Given the description of an element on the screen output the (x, y) to click on. 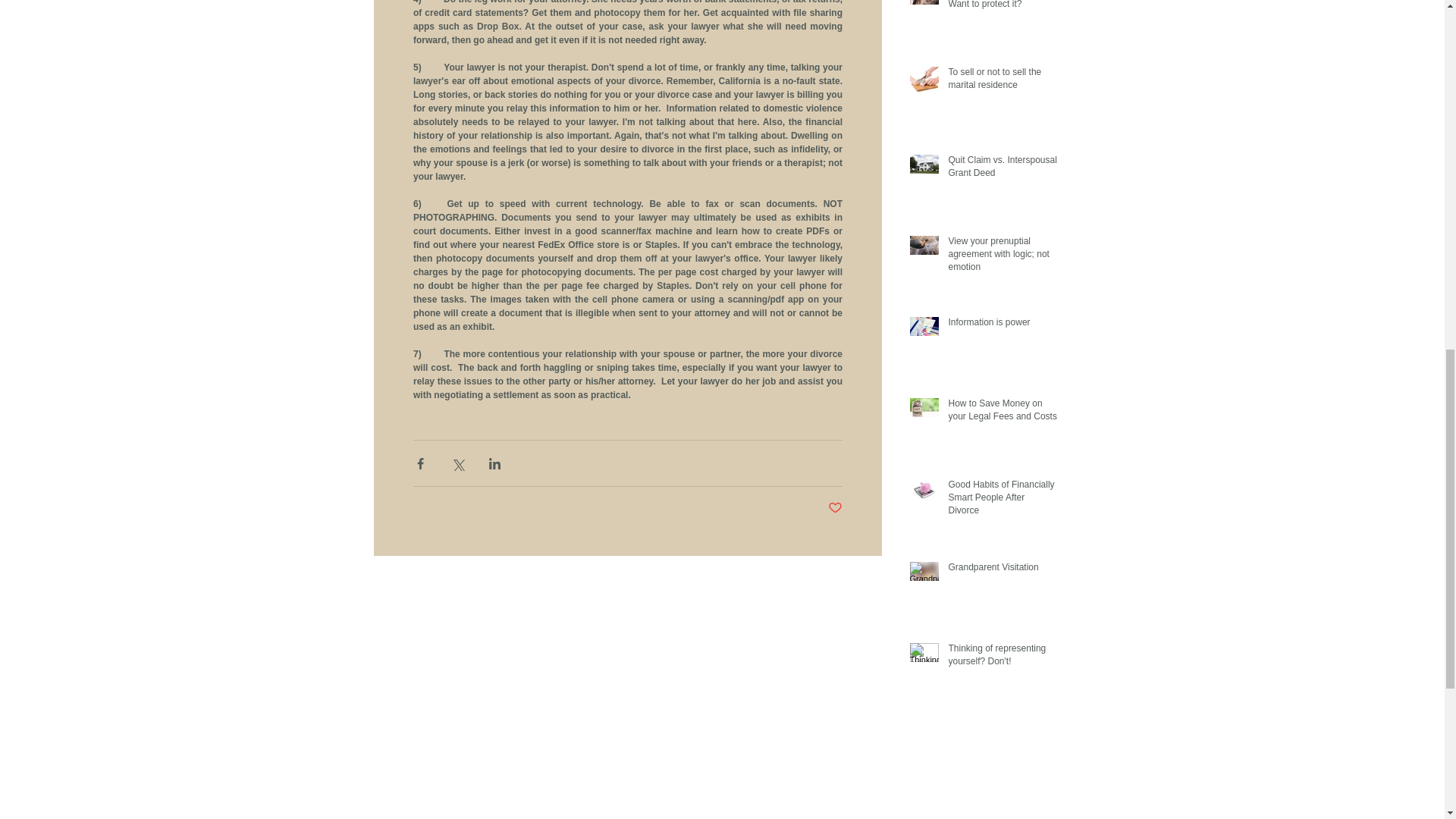
Post not marked as liked (835, 508)
Do you own a business? Want to protect it? (1002, 8)
Quit Claim vs. Interspousal Grant Deed (1002, 169)
To sell or not to sell the marital residence (1002, 81)
